Given the description of an element on the screen output the (x, y) to click on. 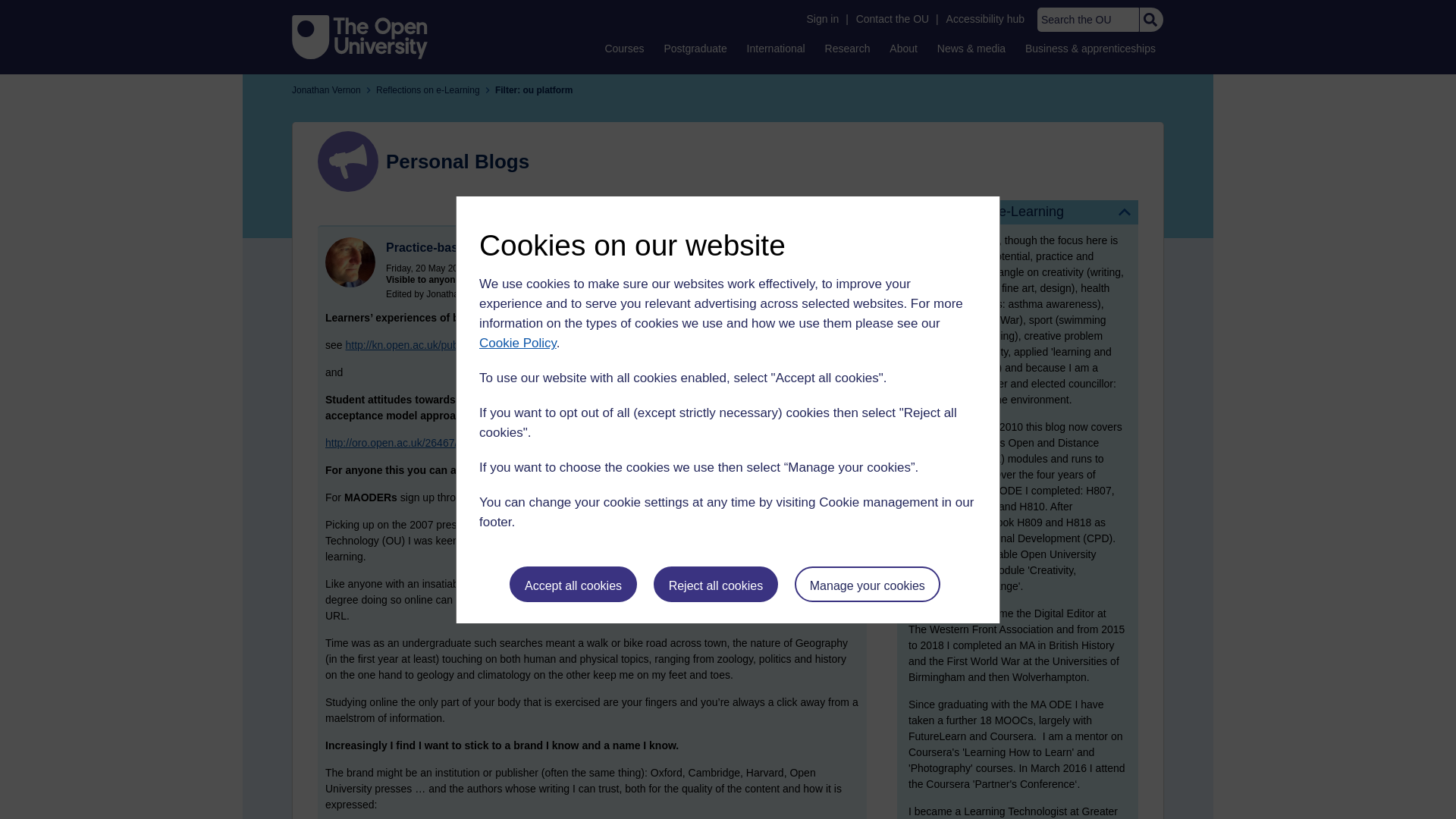
Contact the OU (892, 19)
The Open University (360, 36)
Reflections on e-Learning (1017, 211)
Cookie Policy (517, 342)
Accessibility hub (985, 19)
International (775, 48)
Manage your cookies (867, 583)
Courses (623, 48)
Postgraduate (695, 48)
